Given the description of an element on the screen output the (x, y) to click on. 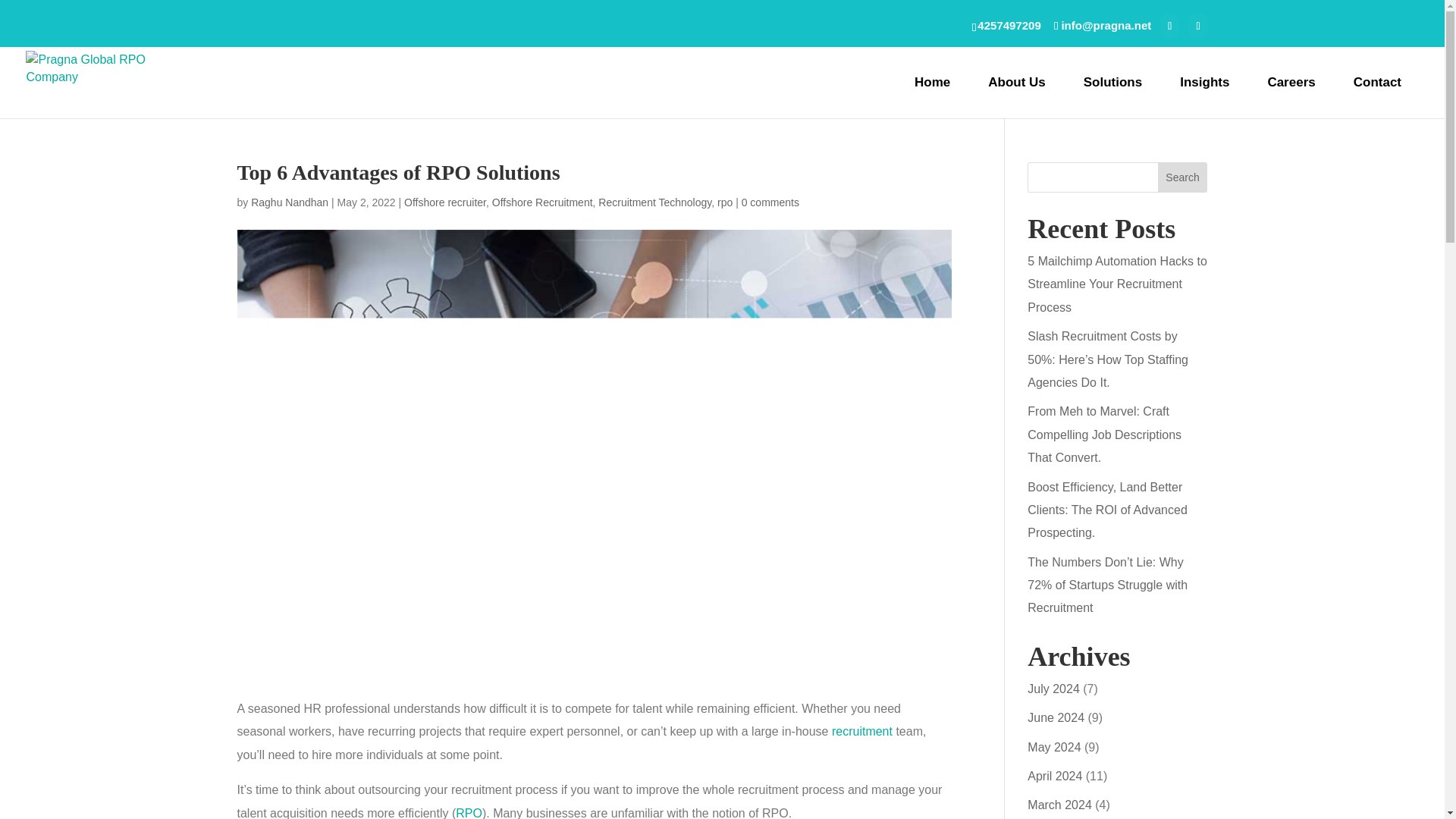
About Us (1016, 81)
Raghu Nandhan (289, 202)
May 2024 (1053, 747)
Home (932, 81)
Solutions (1112, 81)
Recruitment Technology (654, 202)
Offshore Recruitment (542, 202)
Insights (1203, 81)
Careers (1290, 81)
Search (1182, 177)
0 comments (770, 202)
July 2024 (1053, 688)
rpo (724, 202)
